Given the description of an element on the screen output the (x, y) to click on. 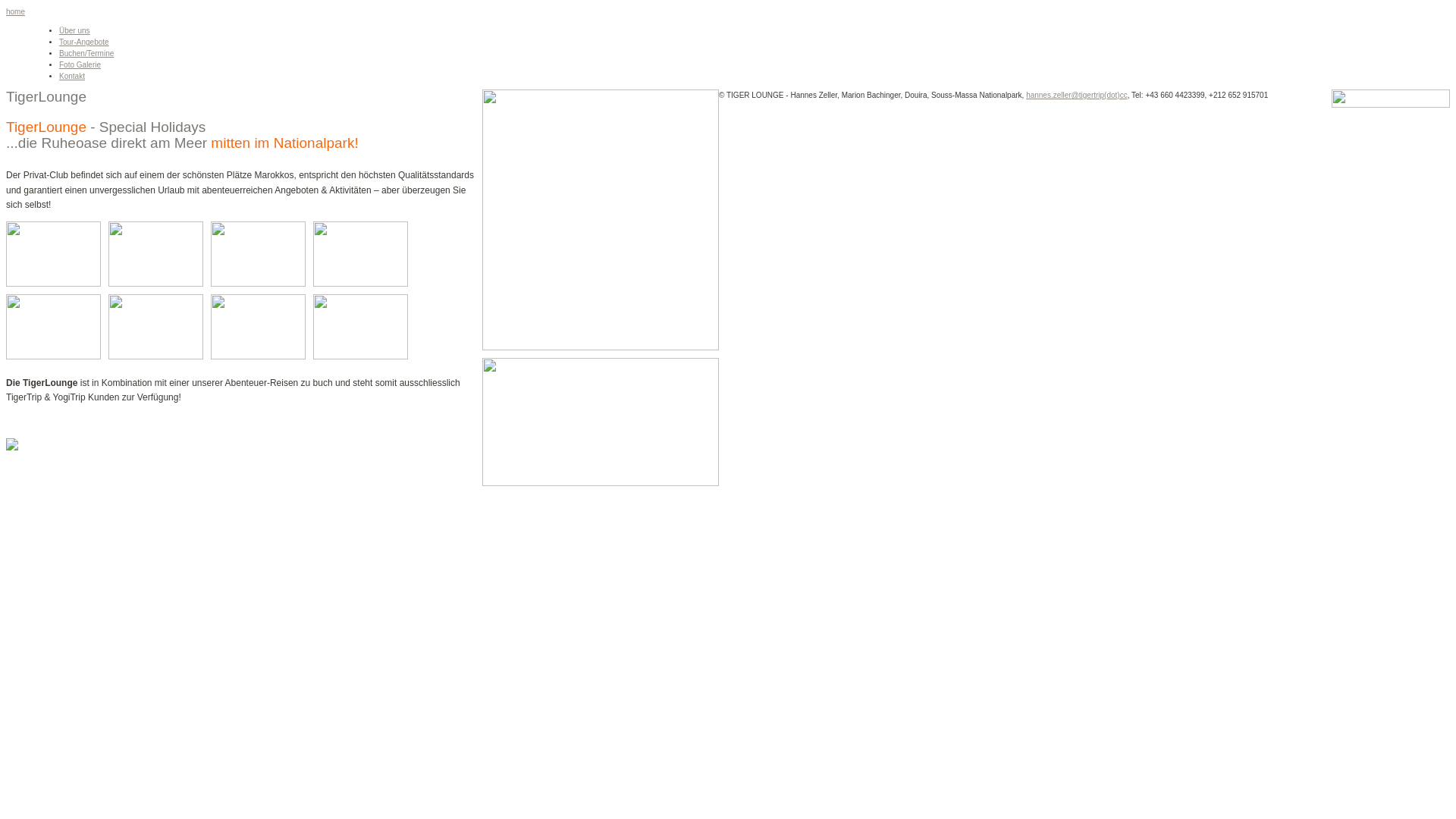
Tour-Angebote Element type: text (84, 41)
Buchen/Termine Element type: text (86, 53)
Foto Galerie Element type: text (79, 64)
hannes.zeller@tigertrip(dot)cc Element type: text (1076, 95)
Kontakt Element type: text (71, 76)
home Element type: text (15, 11)
